Given the description of an element on the screen output the (x, y) to click on. 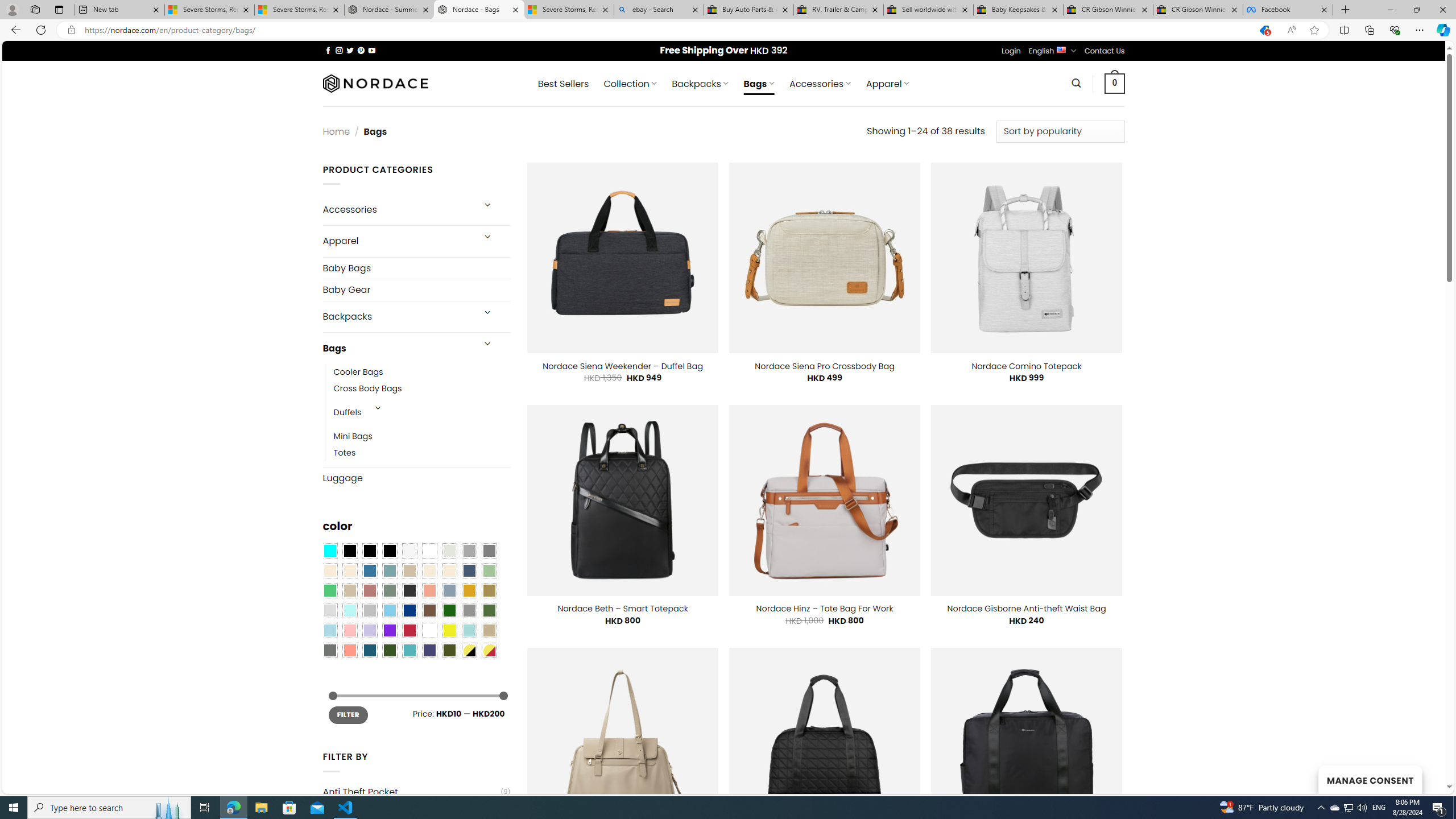
  Best Sellers (563, 83)
Aqua Blue (329, 550)
Caramel (429, 570)
